Given the description of an element on the screen output the (x, y) to click on. 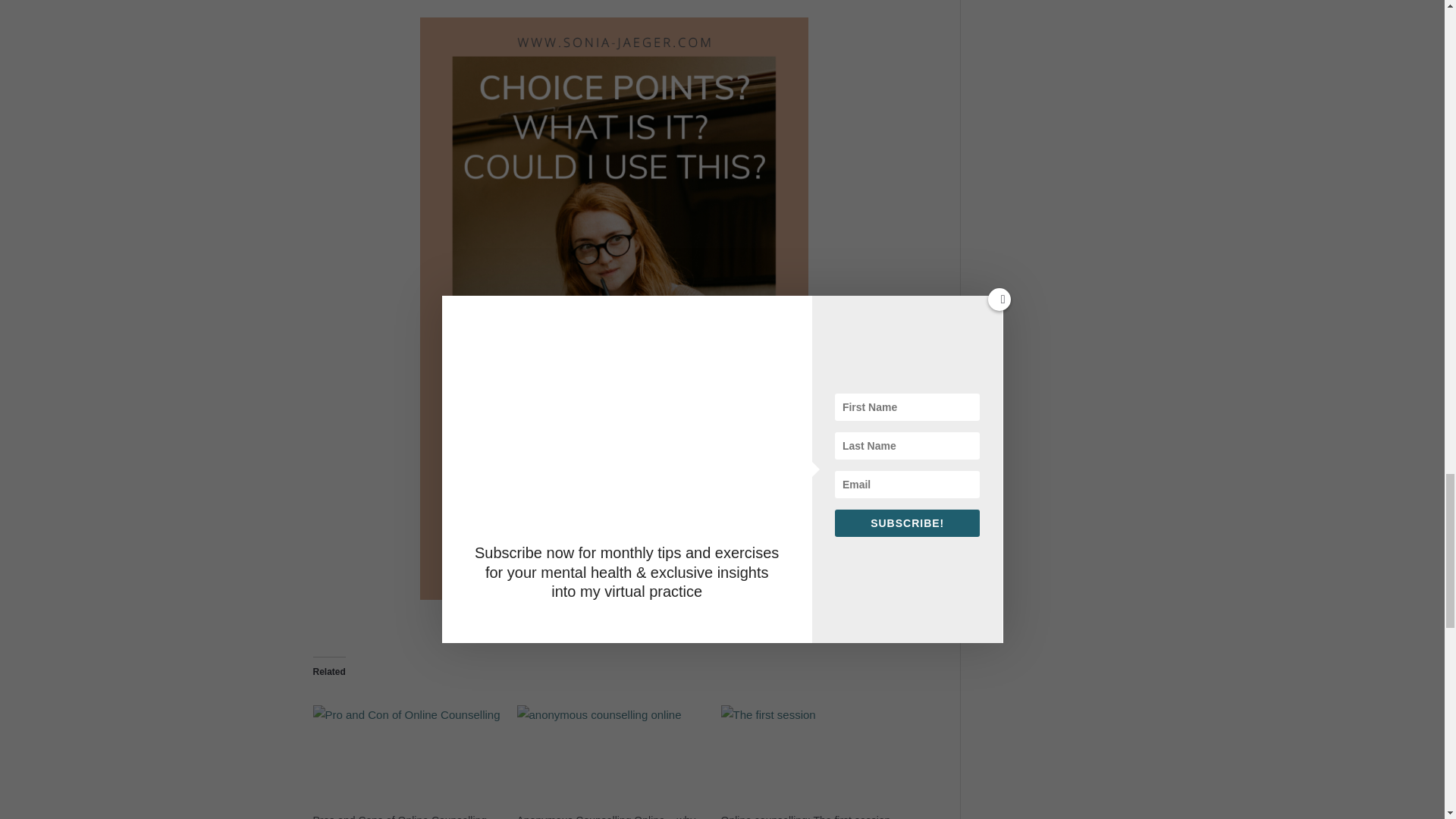
Online counselling: The first session (804, 816)
Online counselling: The first session (814, 759)
Pros and Cons of Online Counselling (406, 759)
Pros and Cons of Online Counselling (399, 816)
